Given the description of an element on the screen output the (x, y) to click on. 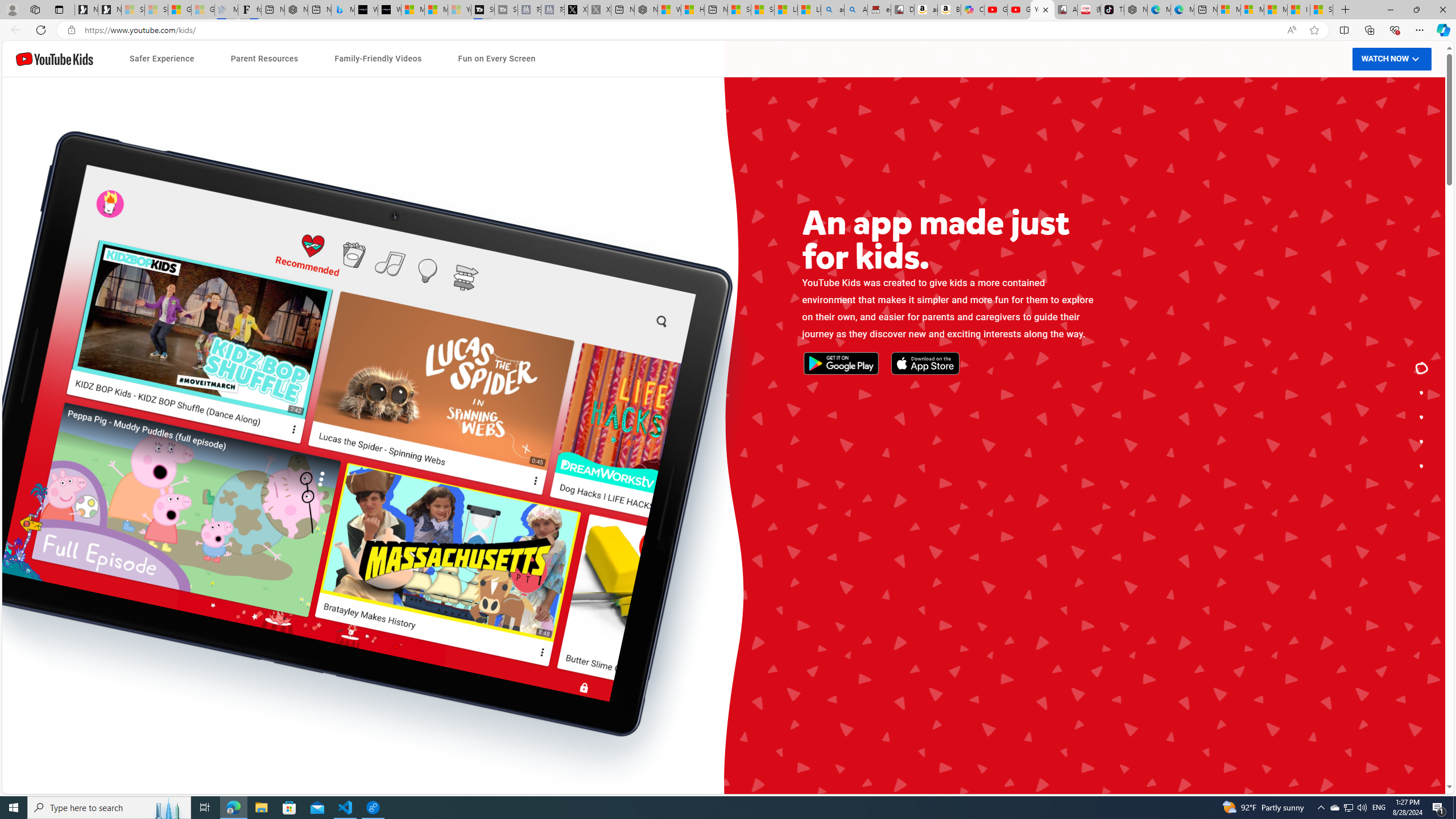
04Shows & Cartoons (950, 559)
All kinds of videos for all kinds of kids. (1421, 441)
A safer online experience for kids. (1421, 392)
Parent Resources (264, 58)
Download the free YouTube Kids app. (1421, 466)
